Given the description of an element on the screen output the (x, y) to click on. 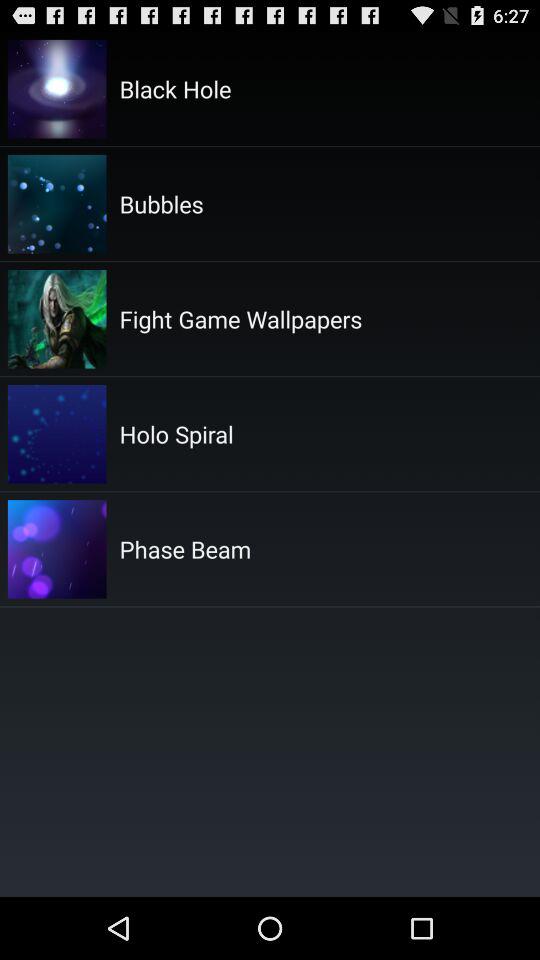
open icon at the top (240, 318)
